Given the description of an element on the screen output the (x, y) to click on. 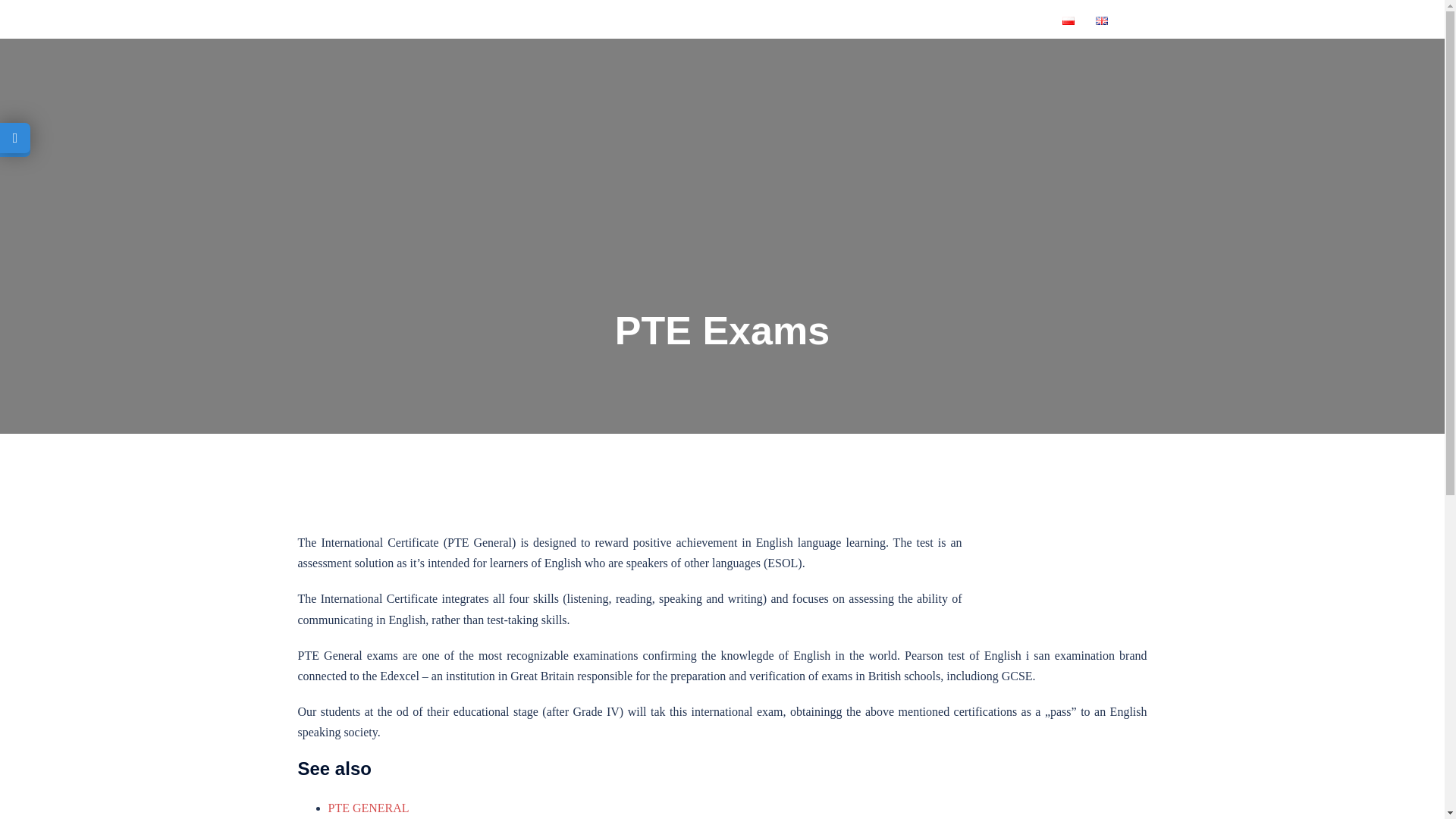
About us (615, 19)
Admissions (714, 19)
Home (532, 19)
PTE GENERAL (368, 807)
Contact (1008, 19)
School life (916, 19)
Education (816, 19)
